Given the description of an element on the screen output the (x, y) to click on. 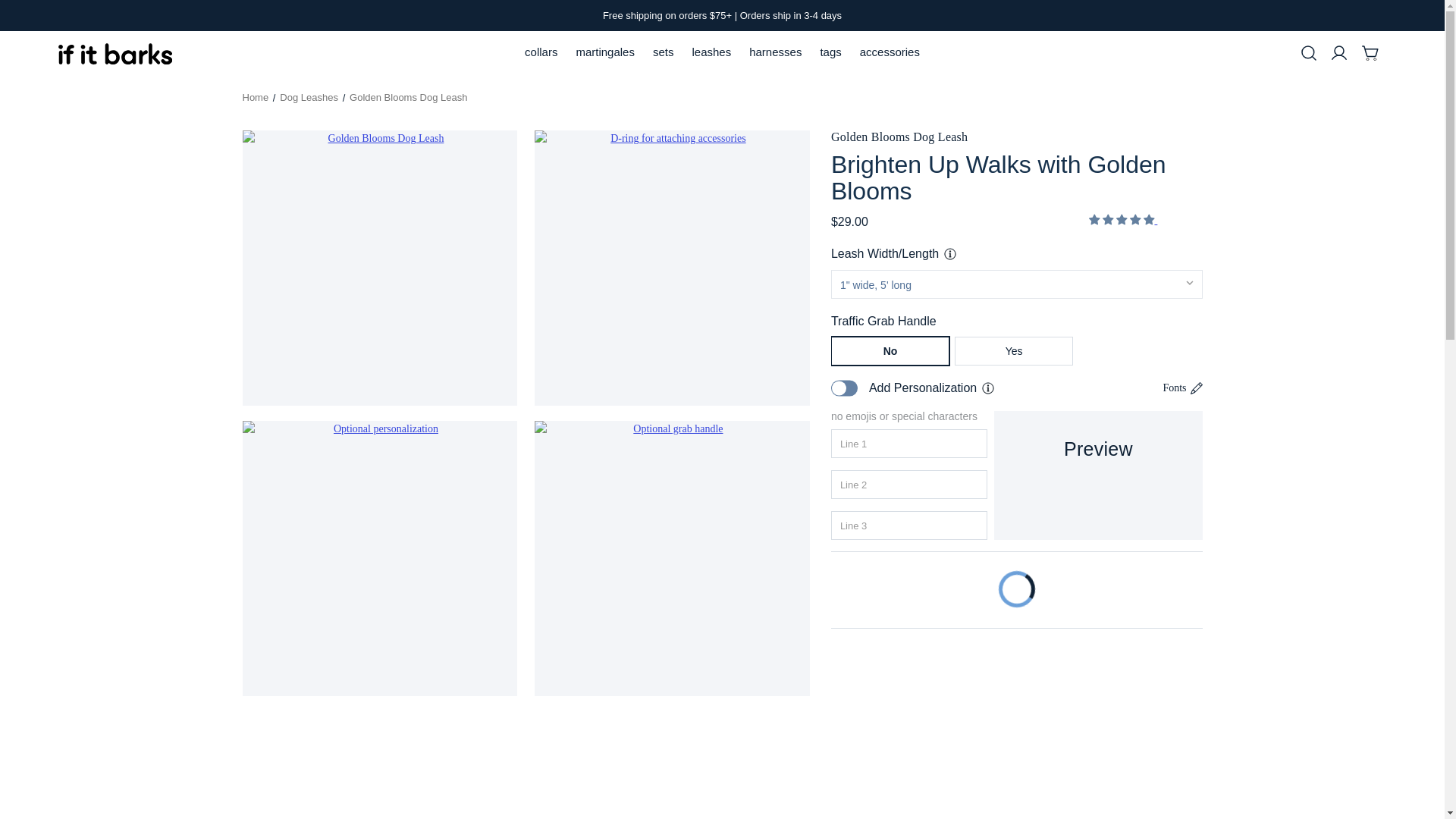
Optional grab handle (671, 558)
sets (662, 52)
leashes (710, 52)
D-ring for attaching accessories (671, 267)
collars (540, 52)
martingales (604, 52)
Get Help (949, 253)
Golden Blooms Dog Leash (380, 267)
Get Help (987, 387)
Optional personalization (380, 558)
